Given the description of an element on the screen output the (x, y) to click on. 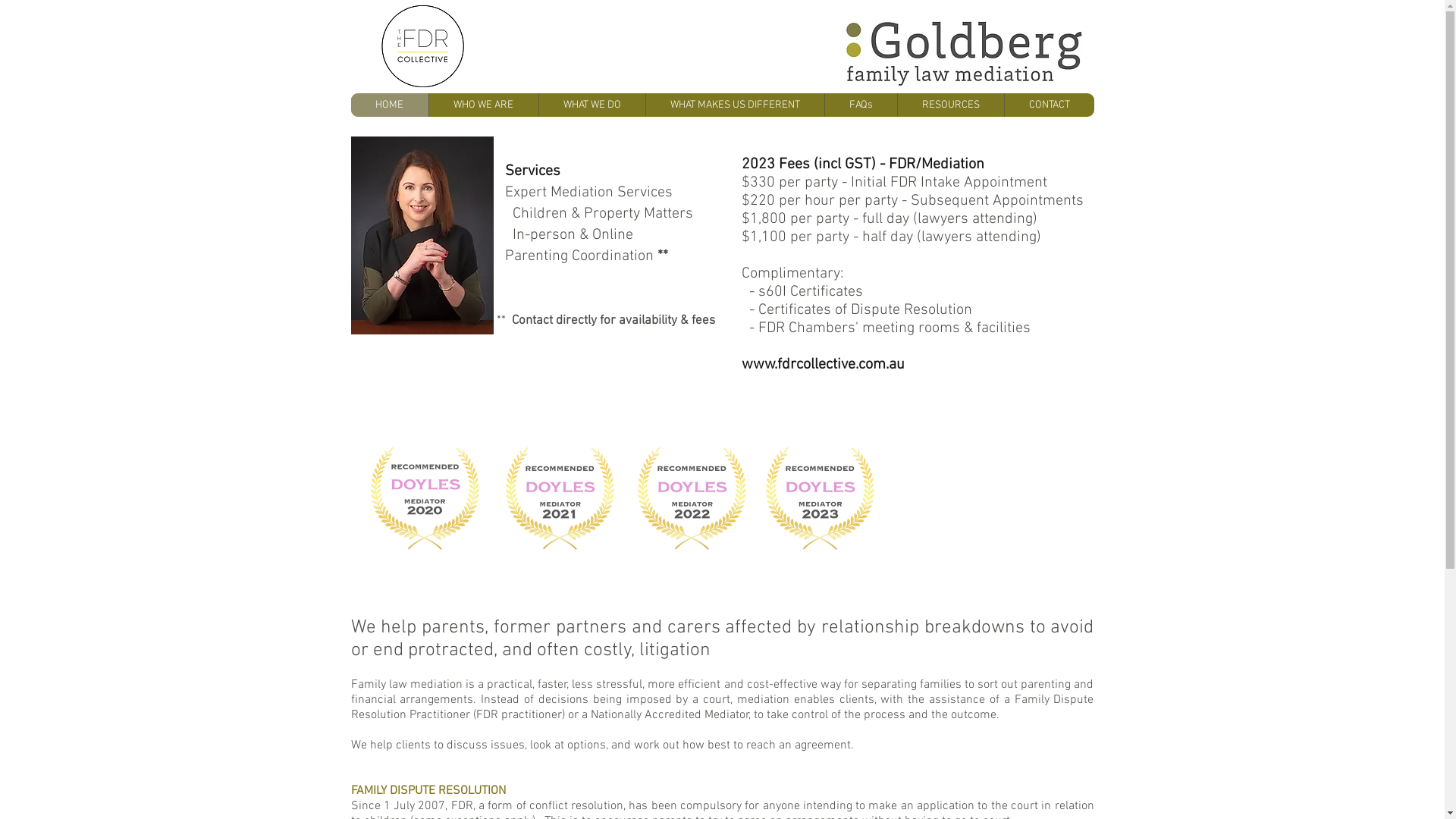
www.fdrcollective.com.au Element type: text (822, 364)
Mediator - Recommended - 2023.png Element type: hover (819, 497)
WHAT MAKES US DIFFERENT Element type: text (733, 104)
CONTACT Element type: text (1049, 104)
FDR Collective - White.png Element type: hover (421, 46)
HOME Element type: text (388, 104)
WHAT WE DO Element type: text (591, 104)
WHO WE ARE Element type: text (482, 104)
